Given the description of an element on the screen output the (x, y) to click on. 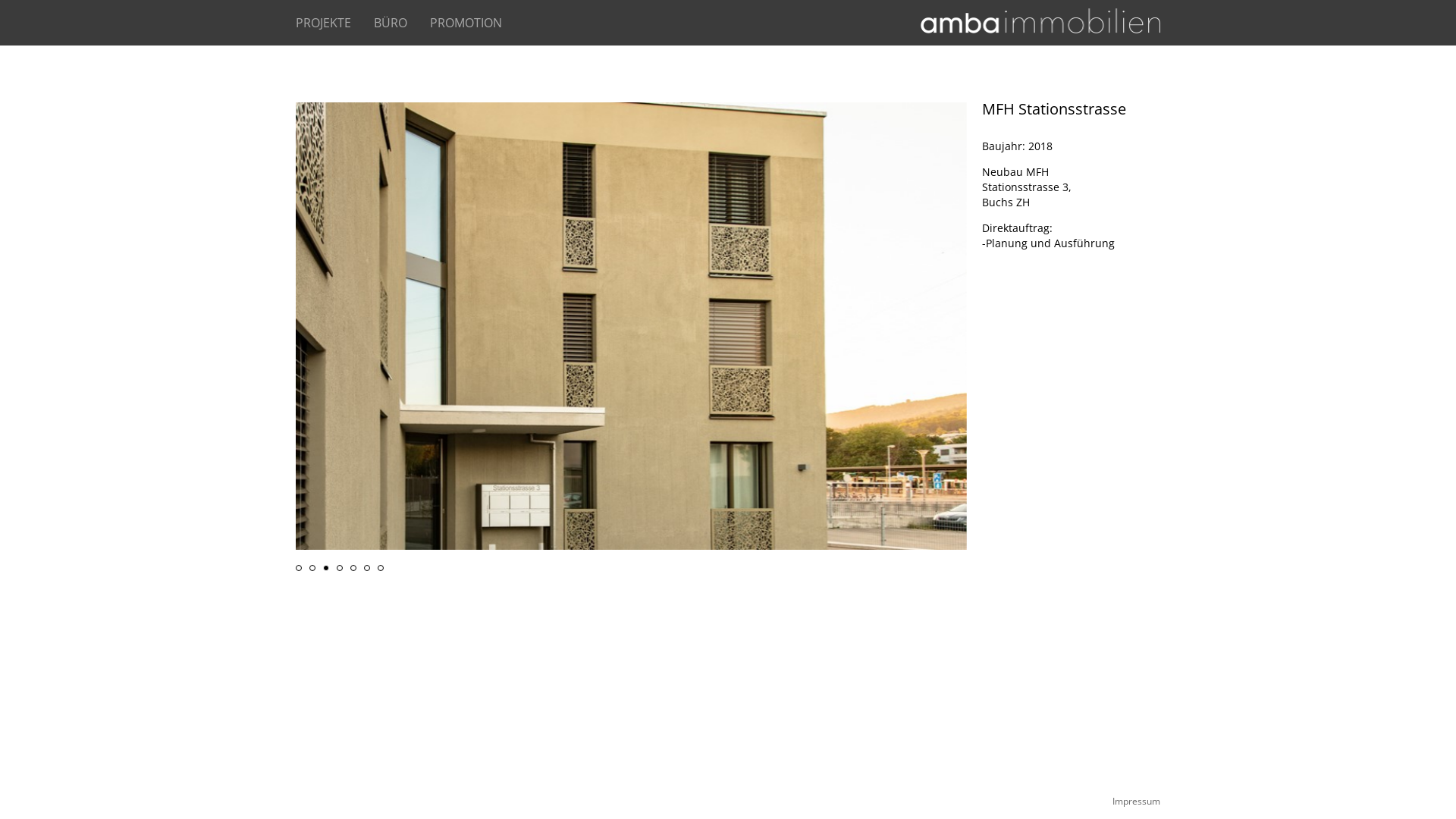
4 Element type: text (339, 567)
2 Element type: text (312, 567)
PROJEKTE Element type: text (334, 22)
Impressum Element type: text (1136, 800)
PROMOTION Element type: text (476, 22)
3 Element type: text (326, 567)
5 Element type: text (353, 567)
6 Element type: text (367, 567)
Startseite Element type: hover (1040, 22)
1 Element type: text (298, 567)
7 Element type: text (380, 567)
